Given the description of an element on the screen output the (x, y) to click on. 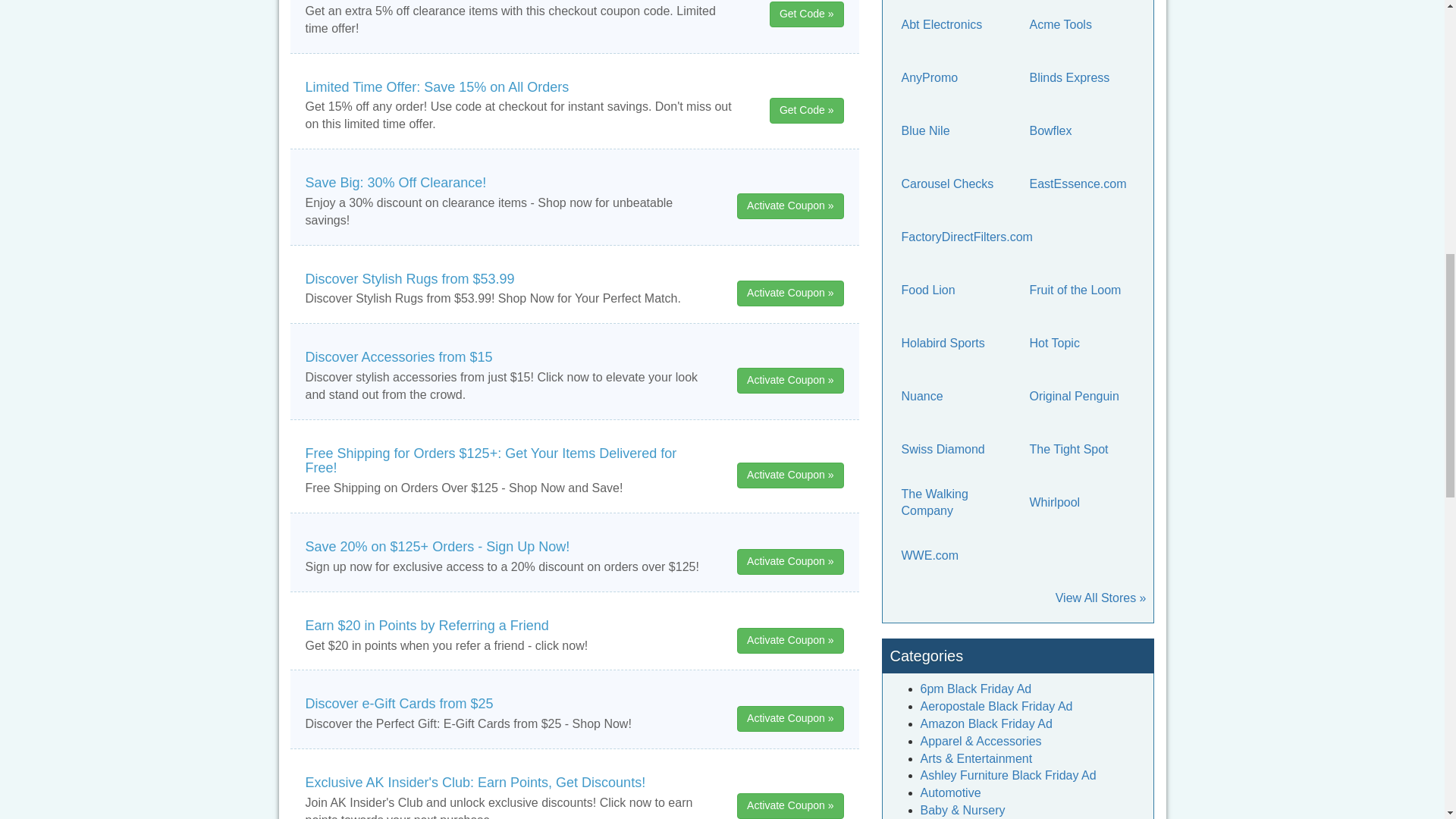
Hot Topic (1081, 343)
EastEssence.com (1081, 184)
Food Lion (953, 290)
Nuance (953, 396)
The Tight Spot (1081, 449)
FactoryDirectFilters.com (966, 237)
Blue Nile (953, 130)
Whirlpool (1081, 502)
Carousel Checks (953, 184)
Swiss Diamond (953, 449)
